Given the description of an element on the screen output the (x, y) to click on. 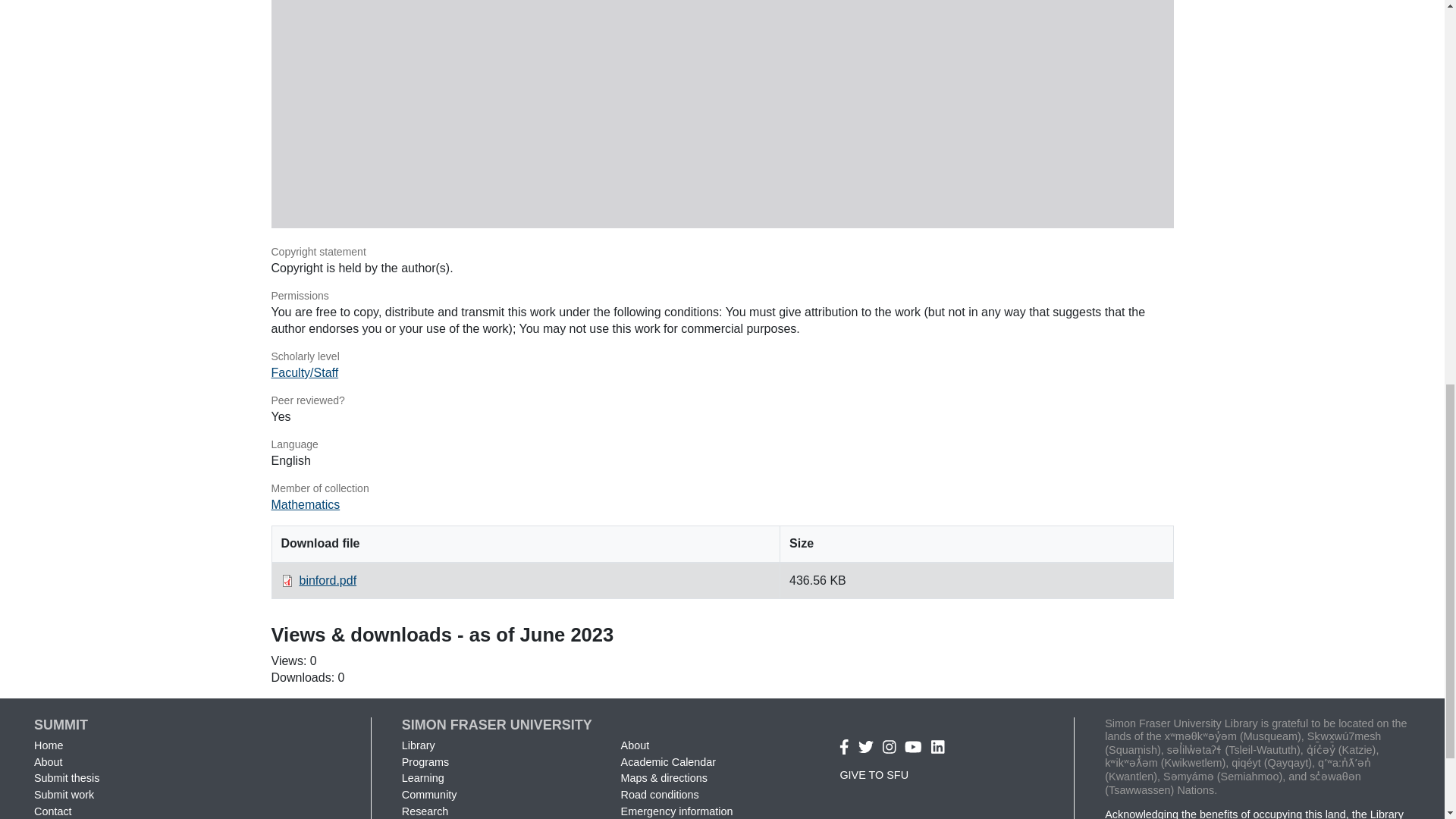
Submit thesis (66, 777)
Learning (422, 777)
Submit work (63, 794)
Scholarly level (721, 356)
Library (418, 745)
Community (429, 794)
Permissions (721, 296)
Peer reviewed? (721, 400)
binford.pdf (327, 580)
Research (424, 811)
Mathematics (305, 504)
Programs (424, 761)
About (47, 761)
Contact (52, 811)
